Given the description of an element on the screen output the (x, y) to click on. 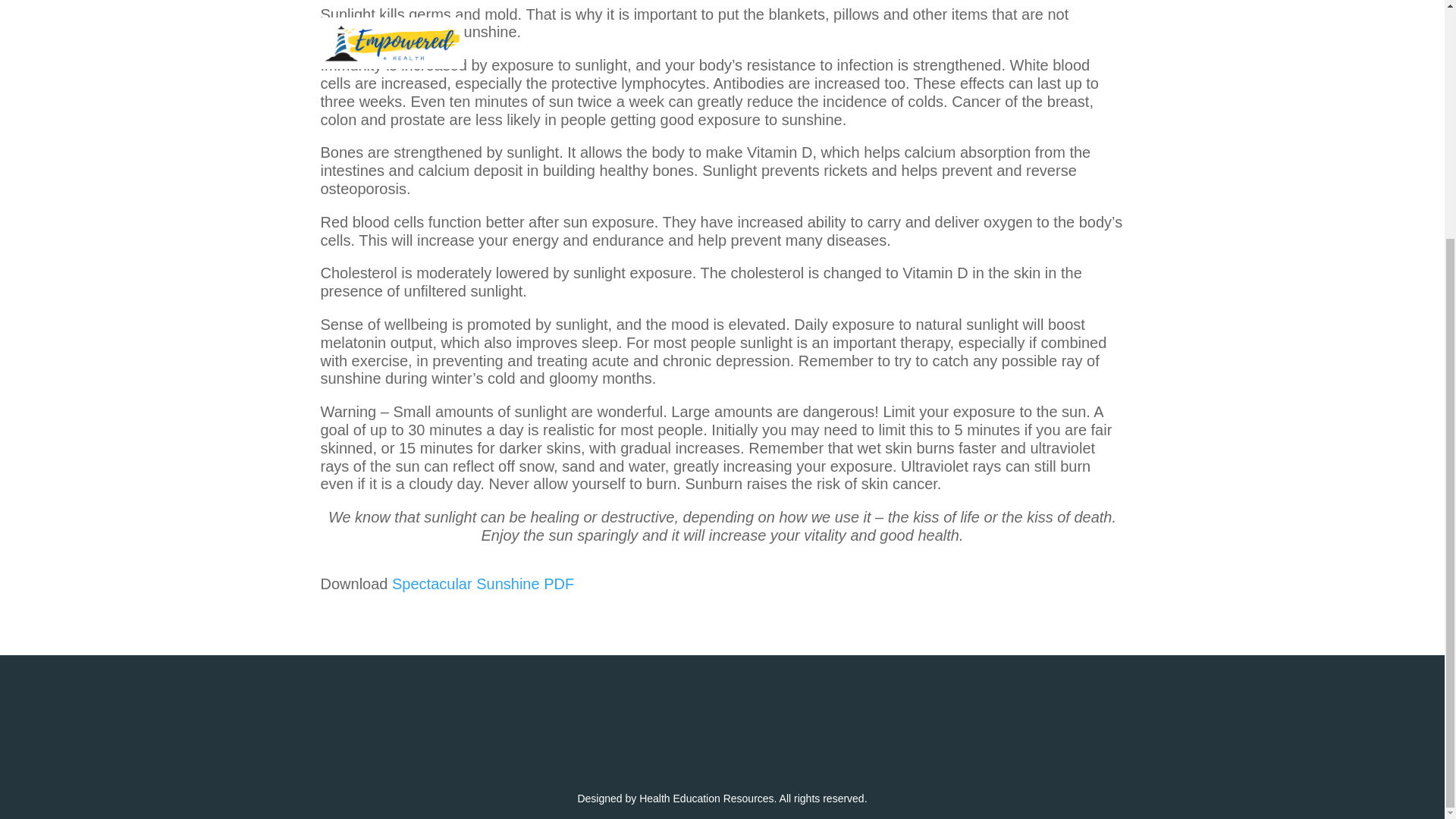
Spectacular Sunshine PDF (482, 583)
